Given the description of an element on the screen output the (x, y) to click on. 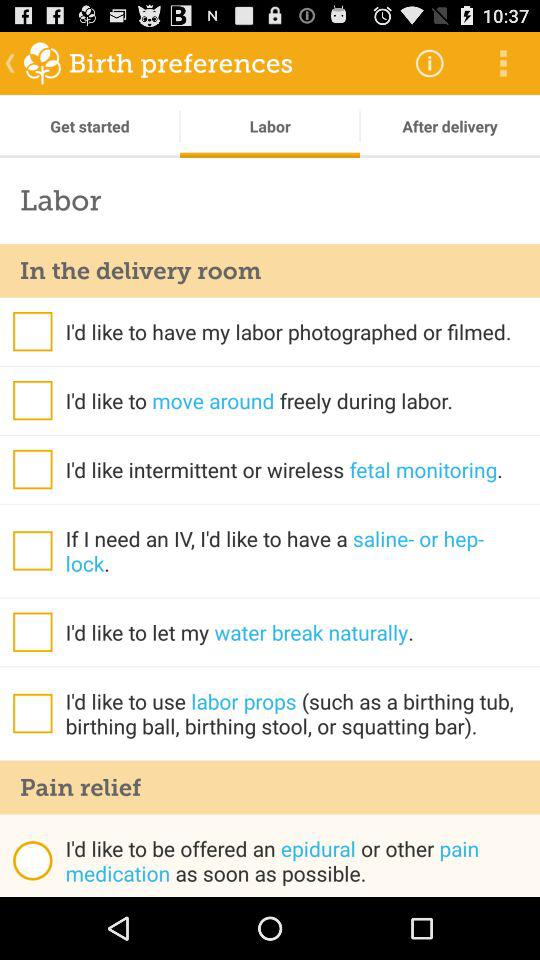
select option (32, 400)
